Given the description of an element on the screen output the (x, y) to click on. 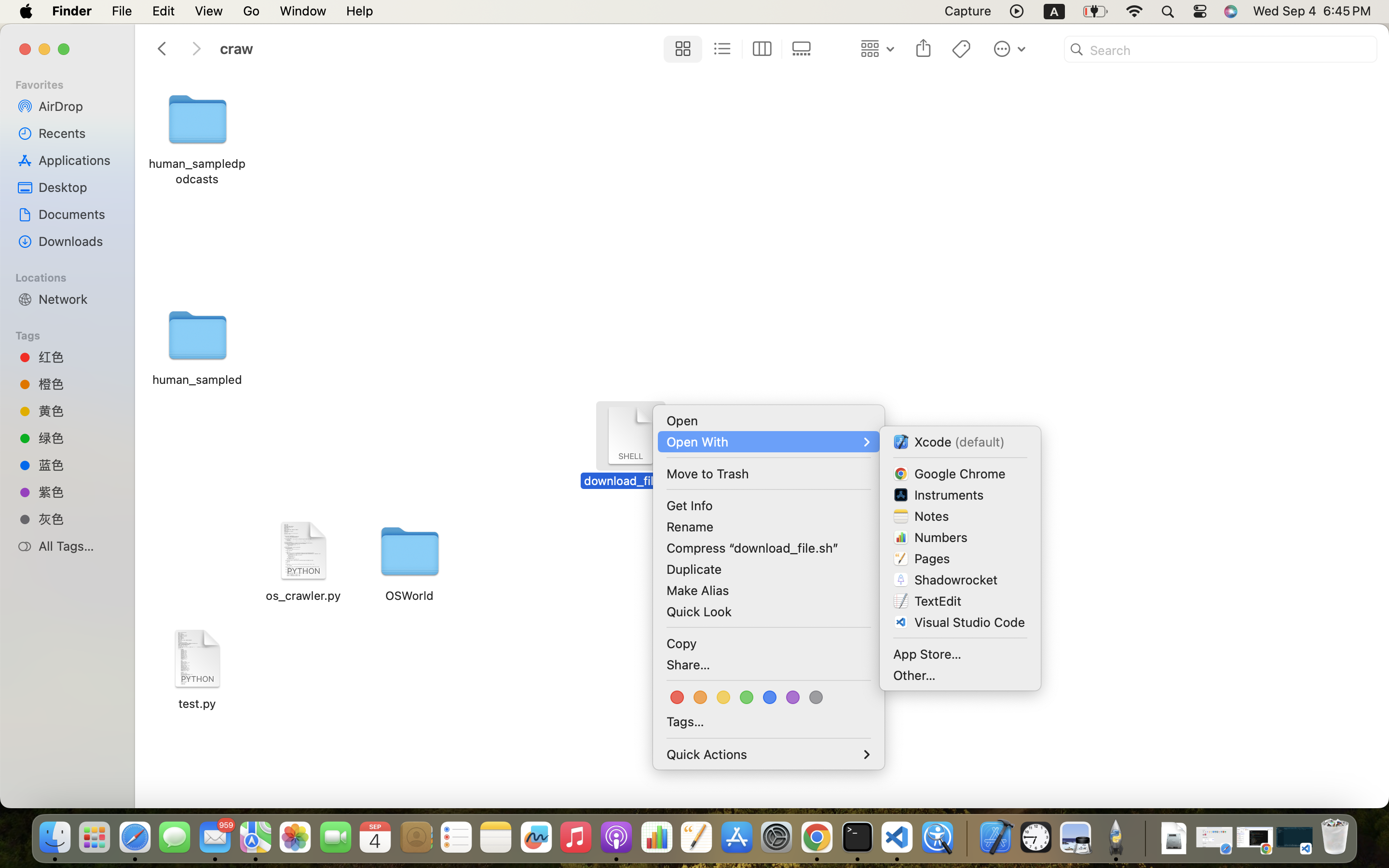
Favorites Element type: AXStaticText (72, 83)
Recents Element type: AXStaticText (77, 132)
0 Element type: AXRadioButton (804, 48)
Locations Element type: AXStaticText (72, 276)
Tags… Element type: AXStaticText (685, 721)
